Given the description of an element on the screen output the (x, y) to click on. 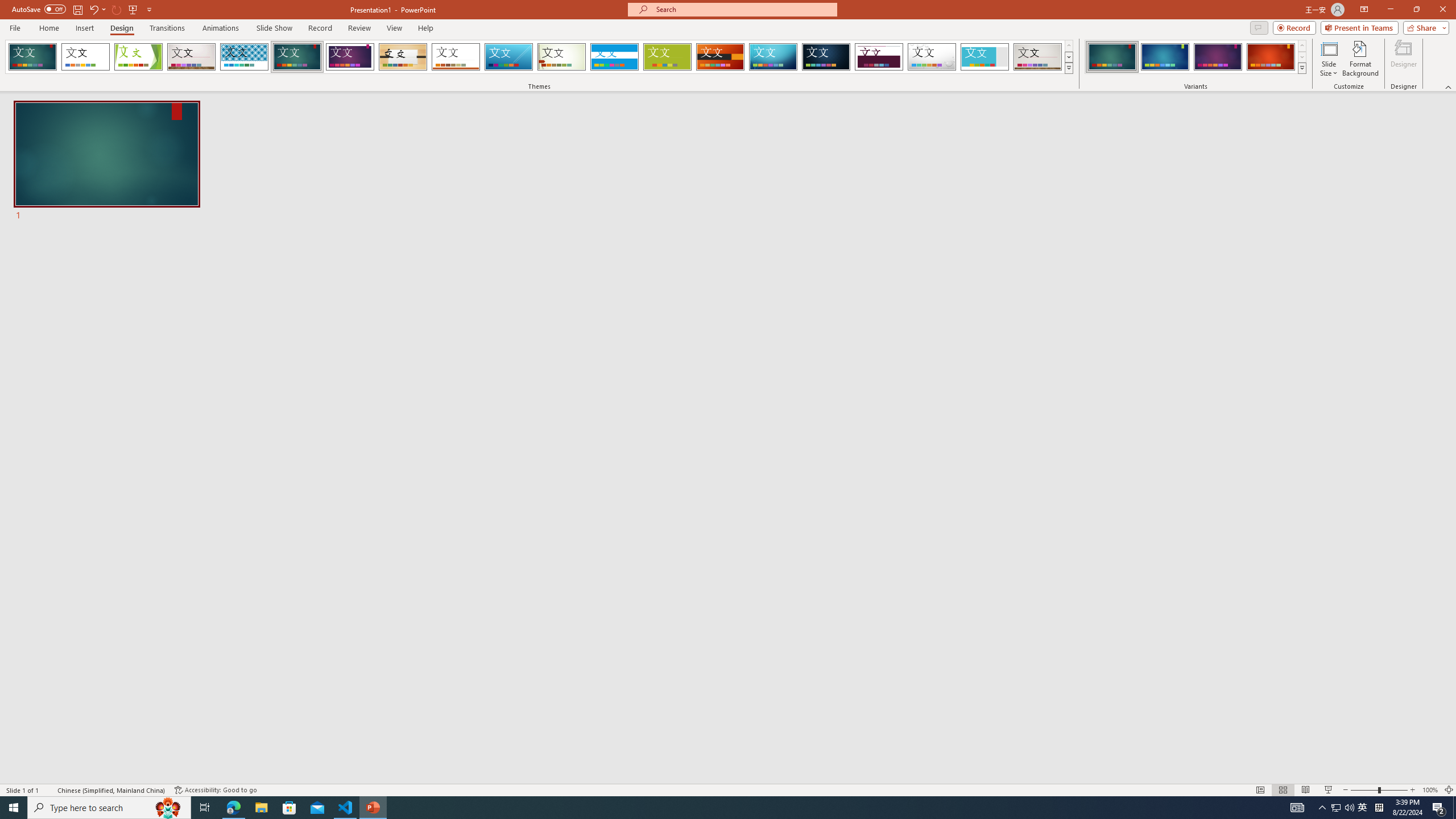
Zoom 100% (1430, 790)
Organic Loading Preview... (403, 56)
Retrospect Loading Preview... (455, 56)
Ion Loading Preview... (296, 56)
